Given the description of an element on the screen output the (x, y) to click on. 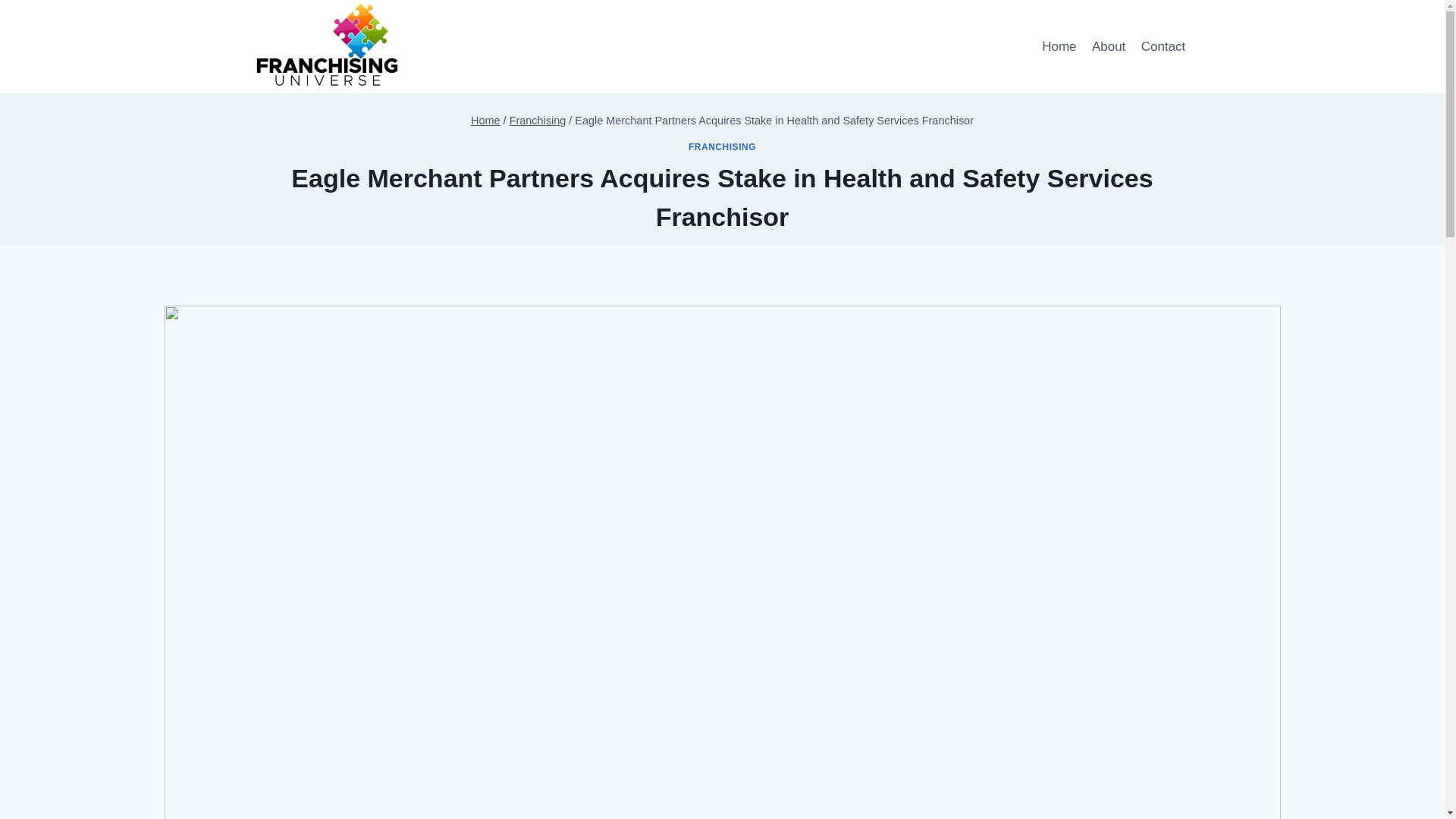
FRANCHISING (721, 146)
About (1109, 46)
Home (485, 120)
Home (1058, 46)
Contact (1163, 46)
Franchising (537, 120)
